Given the description of an element on the screen output the (x, y) to click on. 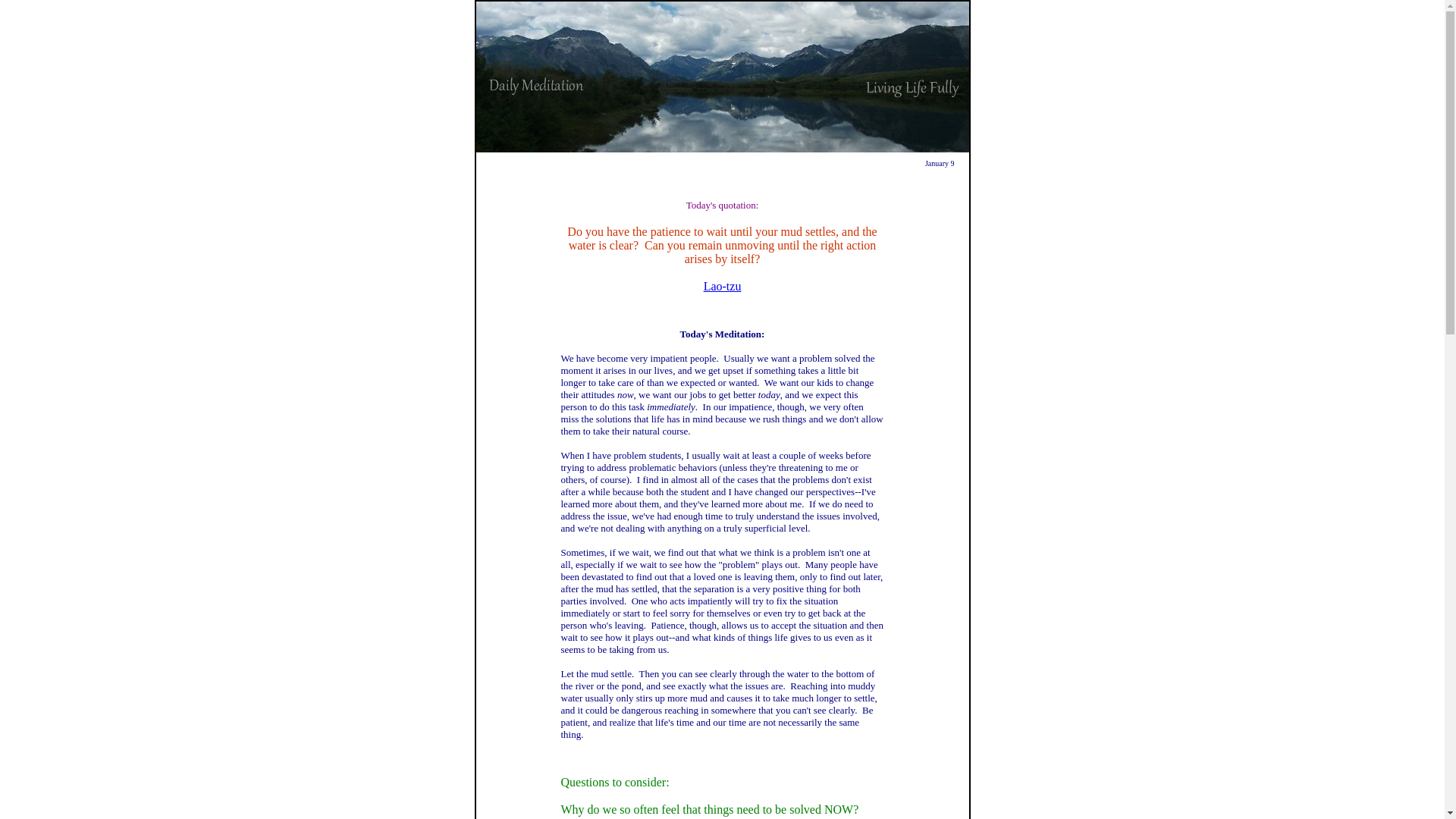
Lao-tzu (722, 286)
